Given the description of an element on the screen output the (x, y) to click on. 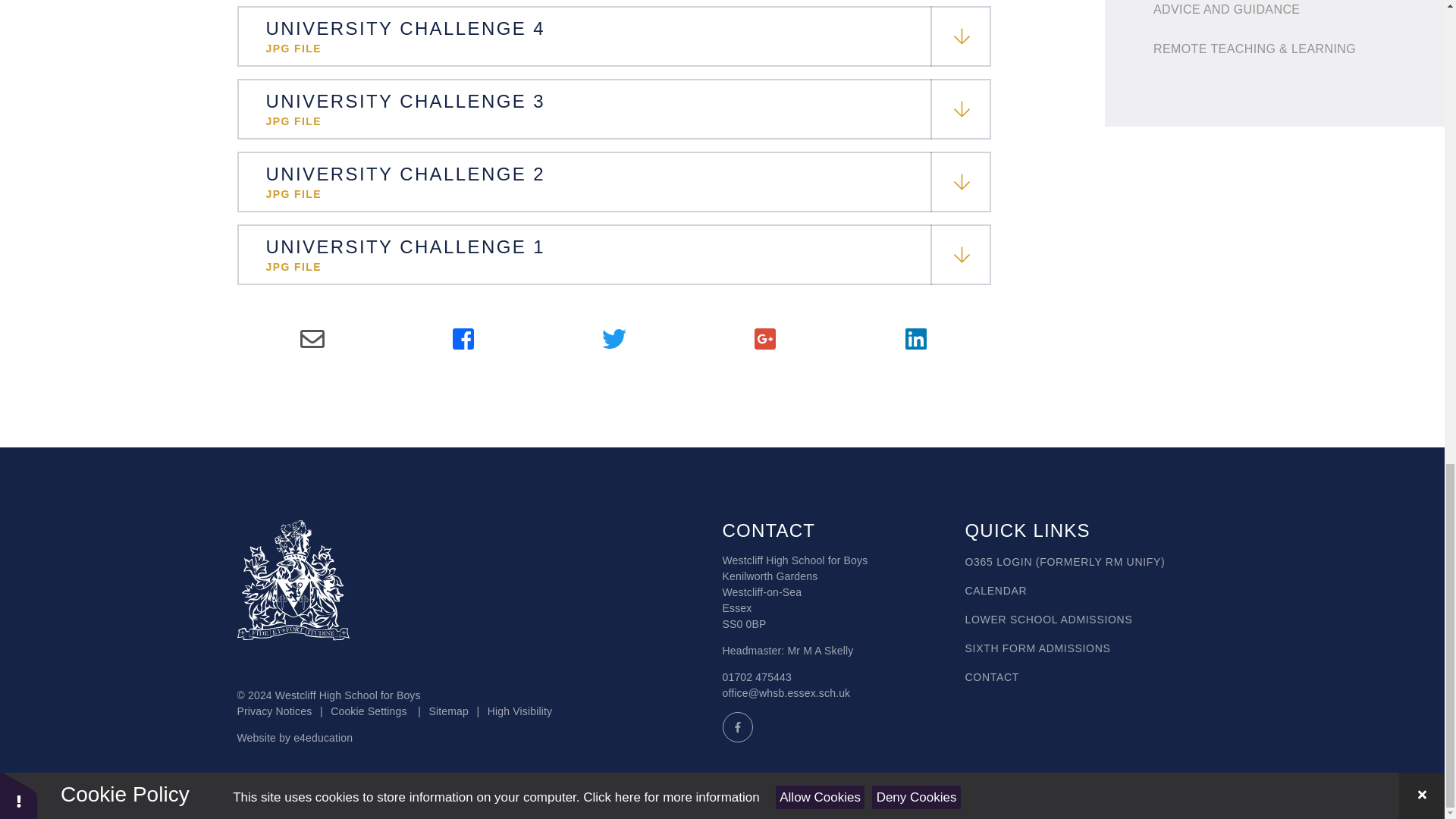
Cookie Settings (368, 711)
